Given the description of an element on the screen output the (x, y) to click on. 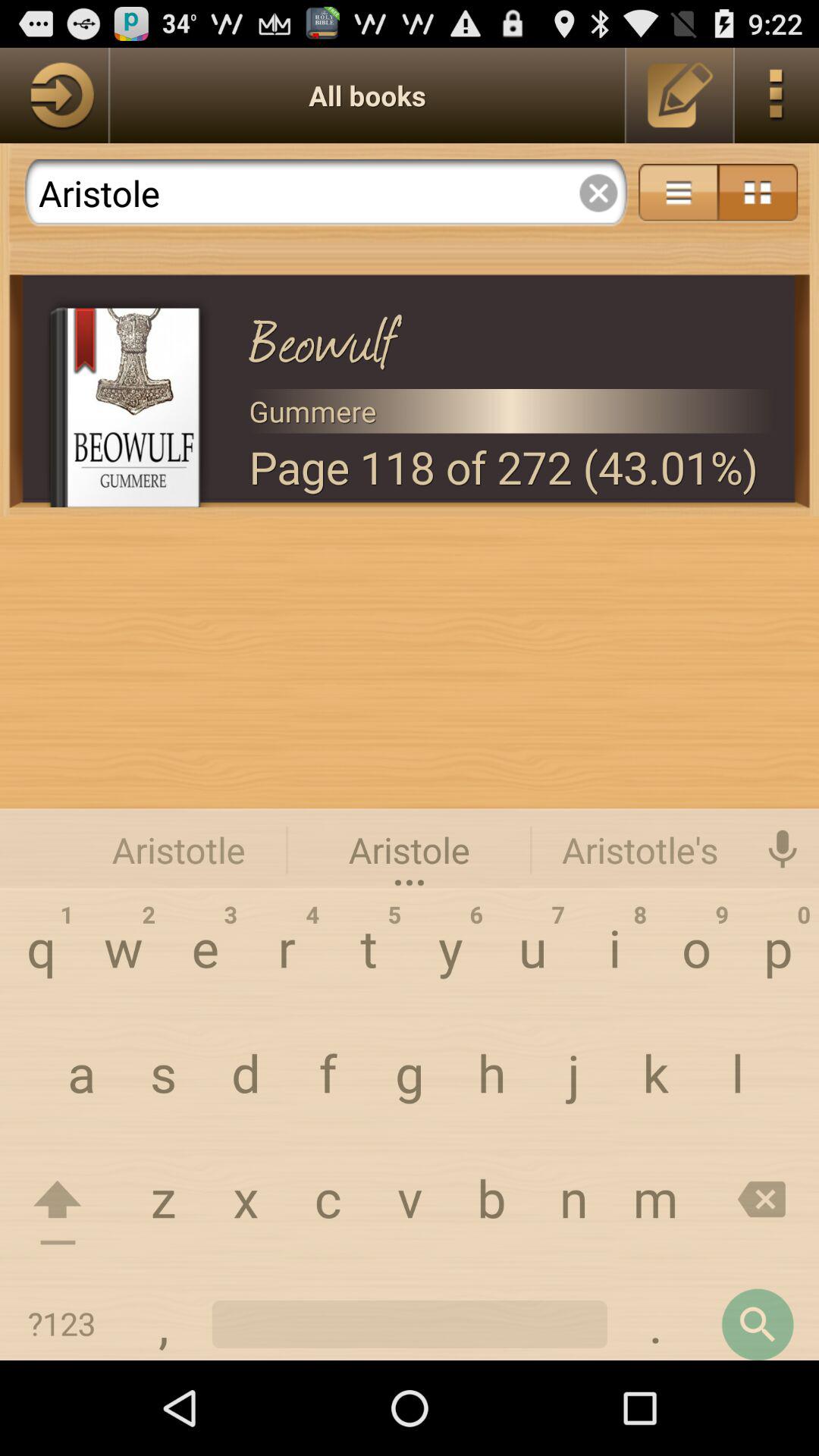
share the articles (678, 192)
